Given the description of an element on the screen output the (x, y) to click on. 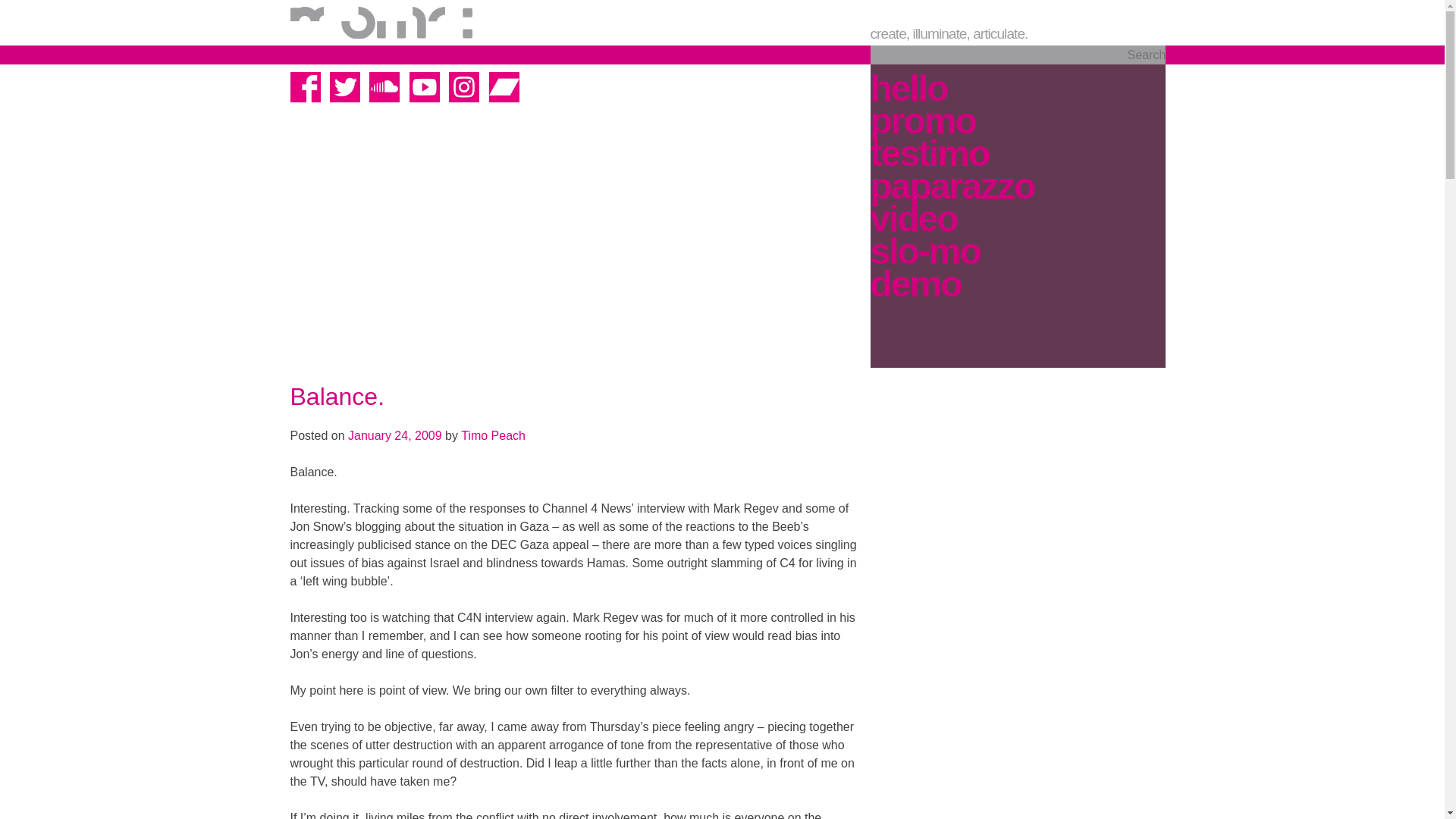
slo-mo (924, 251)
hello (908, 88)
January 24, 2009 (394, 435)
Timo Peach (493, 435)
video (914, 218)
paparazzo (952, 186)
Search (1018, 54)
testimo (930, 153)
promo (922, 120)
demo (915, 283)
